Given the description of an element on the screen output the (x, y) to click on. 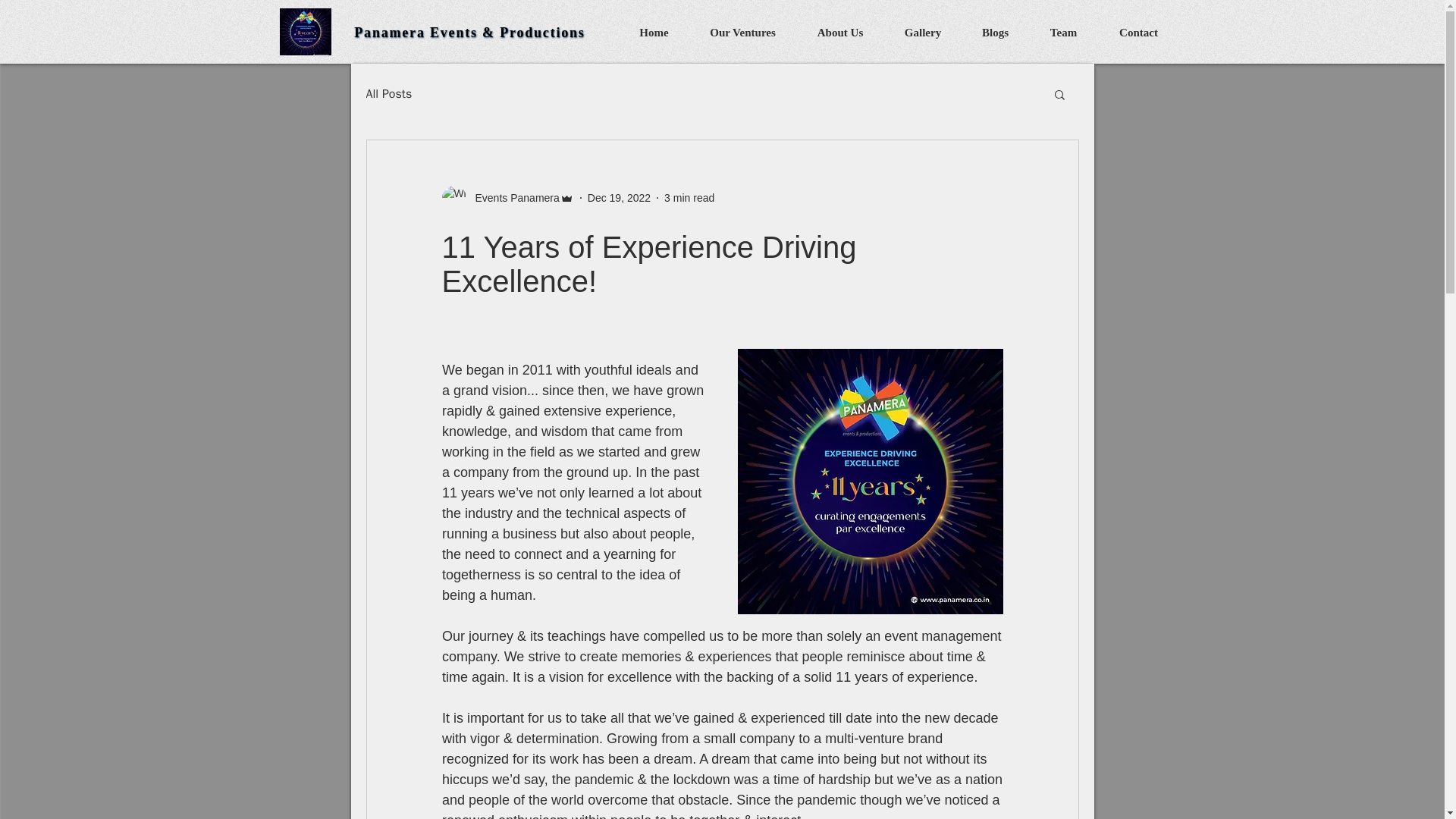
Contact (1138, 32)
Gallery (921, 32)
Home (654, 32)
All Posts (388, 94)
Events Panamera (507, 197)
Team (1063, 32)
Dec 19, 2022 (619, 196)
3 min read (688, 196)
Blogs (994, 32)
About Us (840, 32)
Events Panamera (512, 197)
Our Ventures (743, 32)
